Given the description of an element on the screen output the (x, y) to click on. 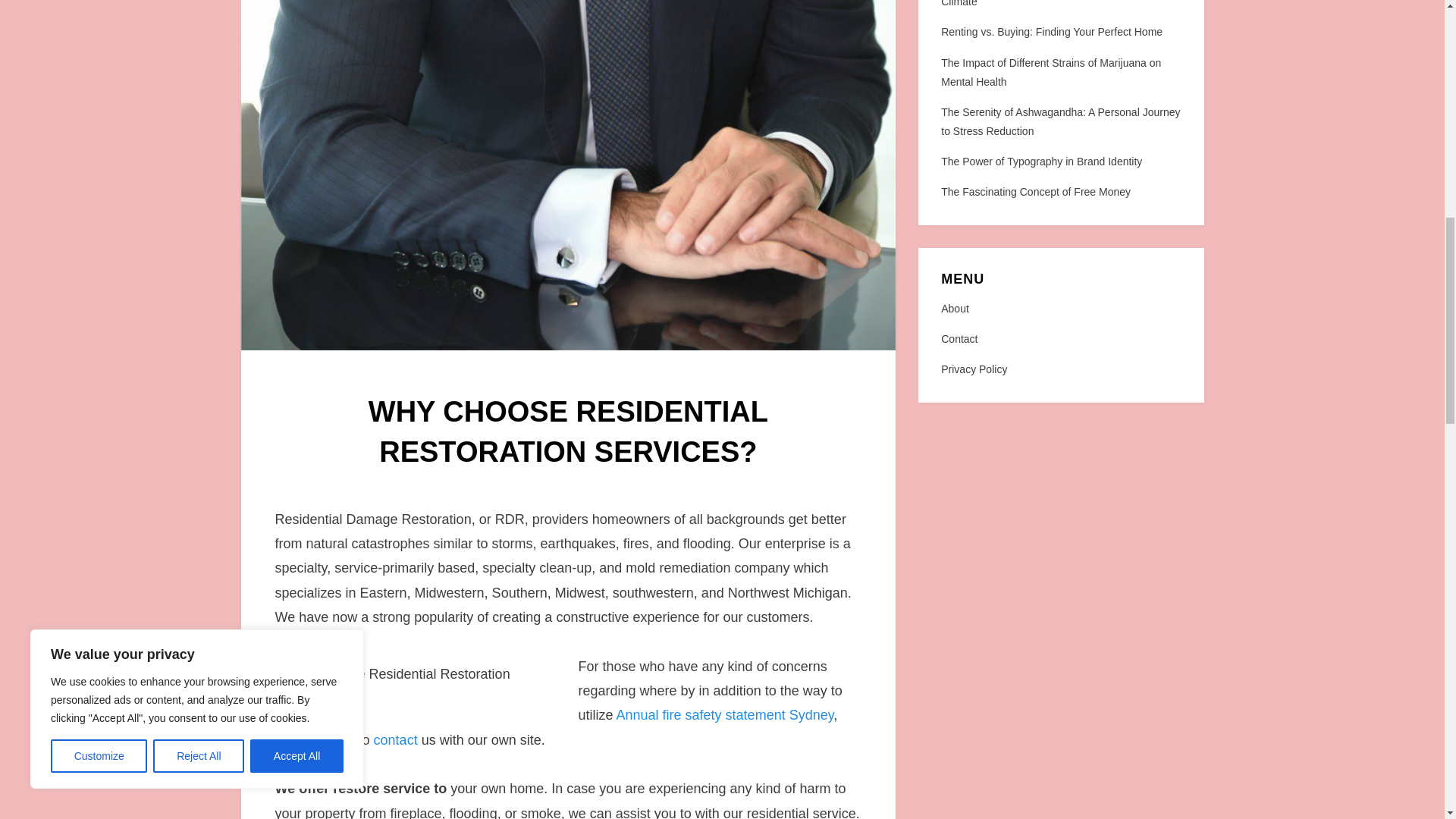
Annual fire safety statement Sydney (724, 714)
contact (395, 739)
